Given the description of an element on the screen output the (x, y) to click on. 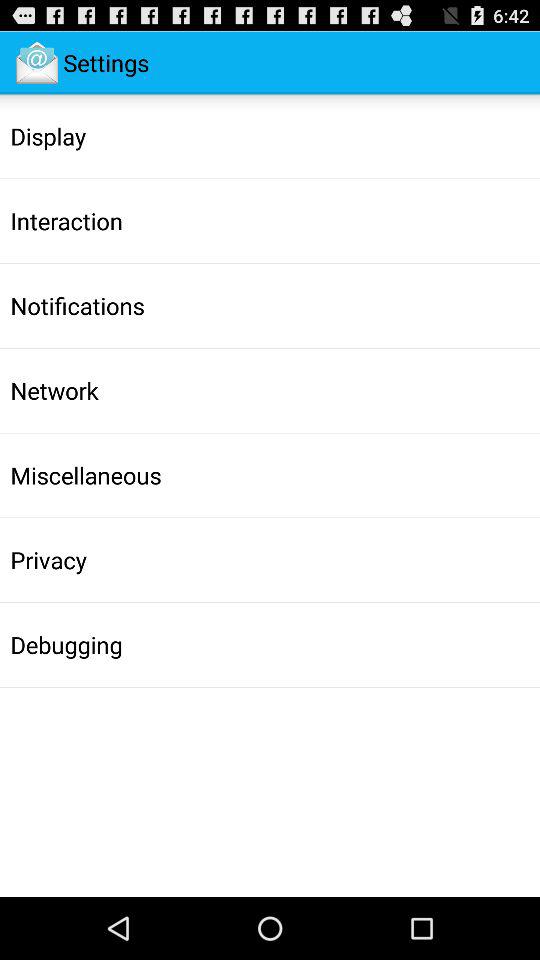
tap notifications icon (77, 305)
